Given the description of an element on the screen output the (x, y) to click on. 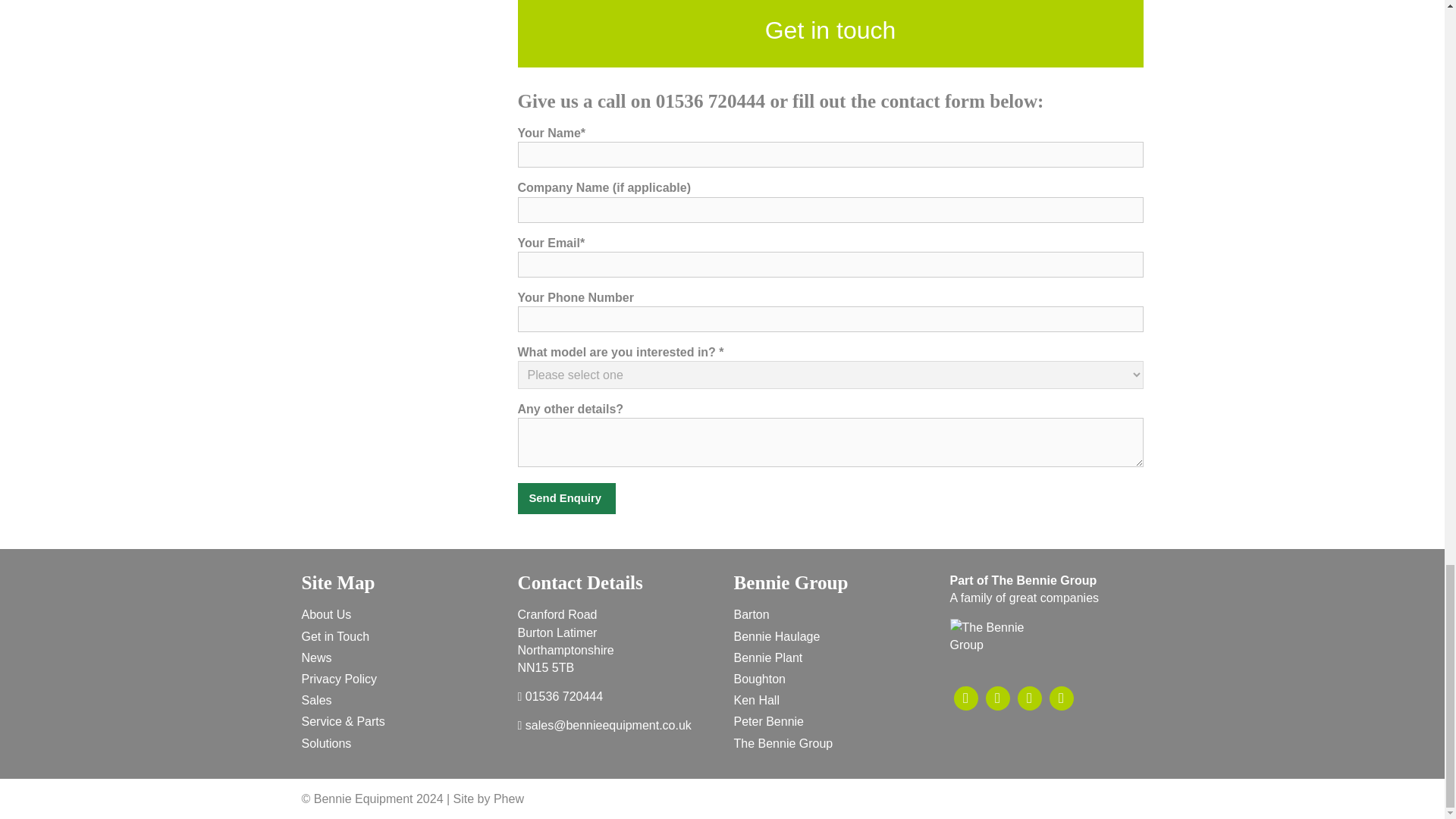
Send Enquiry  (565, 498)
